Given the description of an element on the screen output the (x, y) to click on. 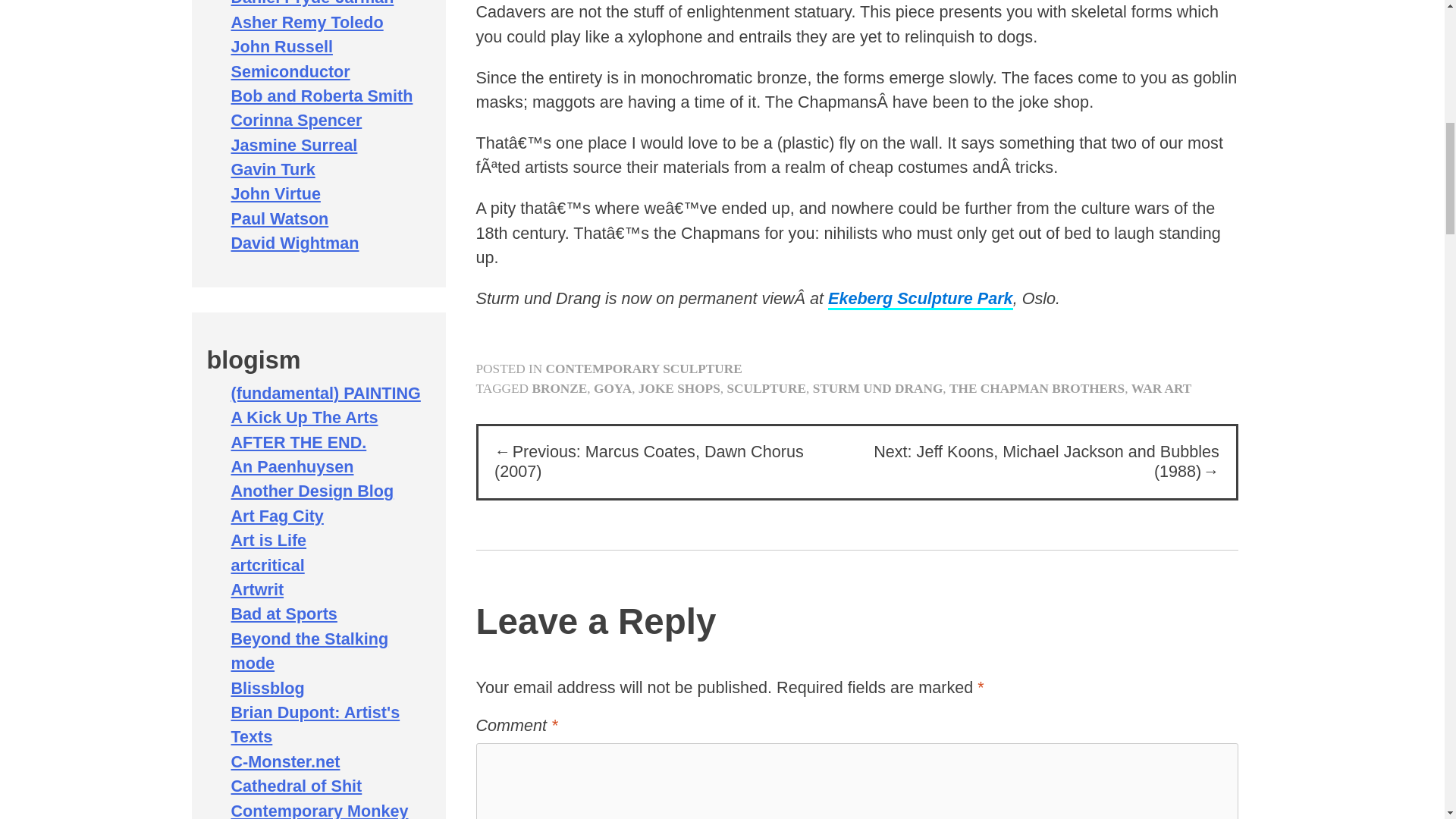
GOYA (612, 388)
STURM UND DRANG (877, 388)
CONTEMPORARY SCULPTURE (644, 368)
BRONZE (558, 388)
WAR ART (1161, 388)
JOKE SHOPS (679, 388)
Ekeberg Sculpture Park (920, 299)
SCULPTURE (766, 388)
THE CHAPMAN BROTHERS (1036, 388)
